Given the description of an element on the screen output the (x, y) to click on. 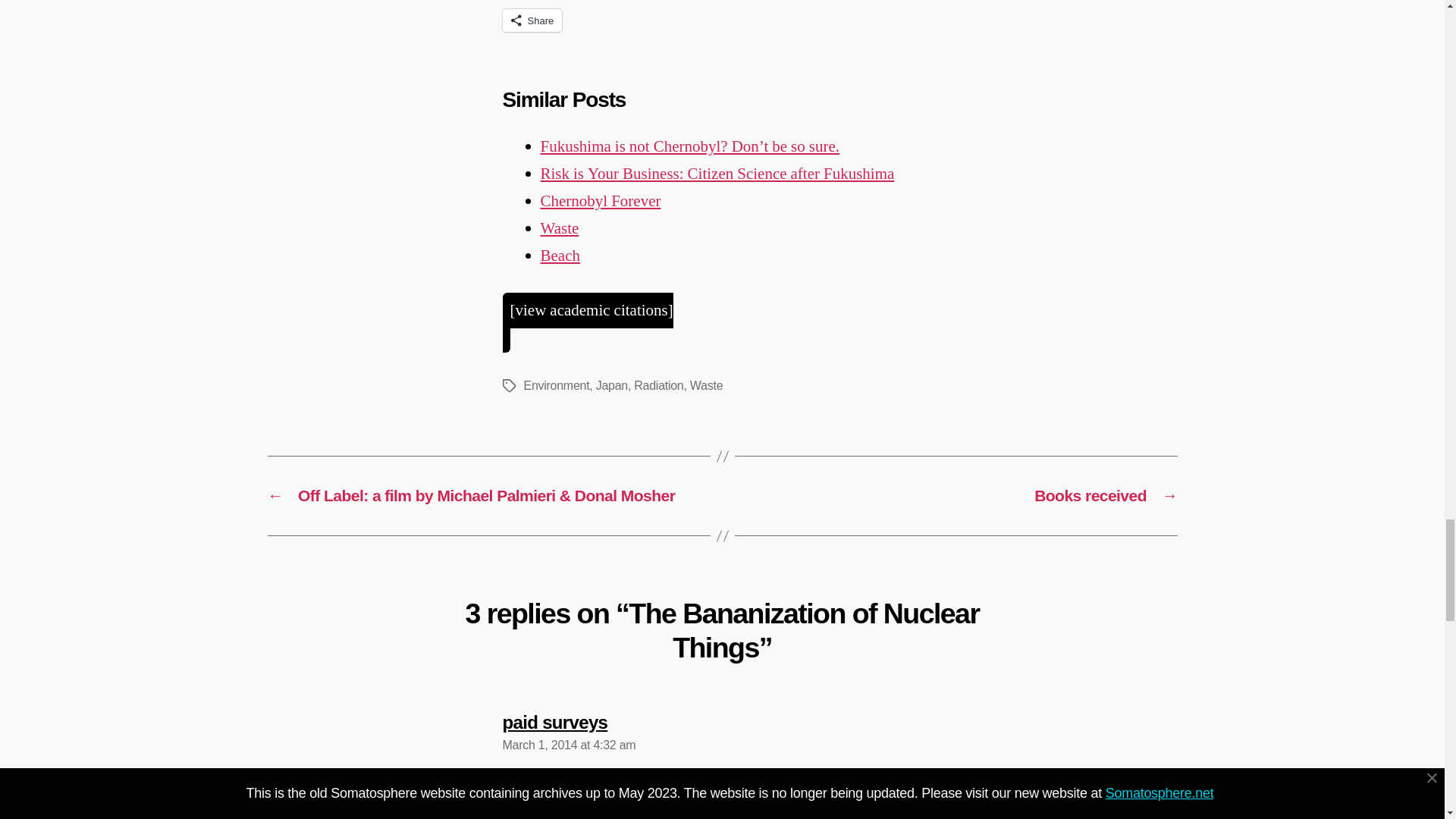
Share (532, 20)
Risk is Your Business: Citizen Science after Fukushima (716, 173)
March 1, 2014 at 4:32 am (568, 744)
